Given the description of an element on the screen output the (x, y) to click on. 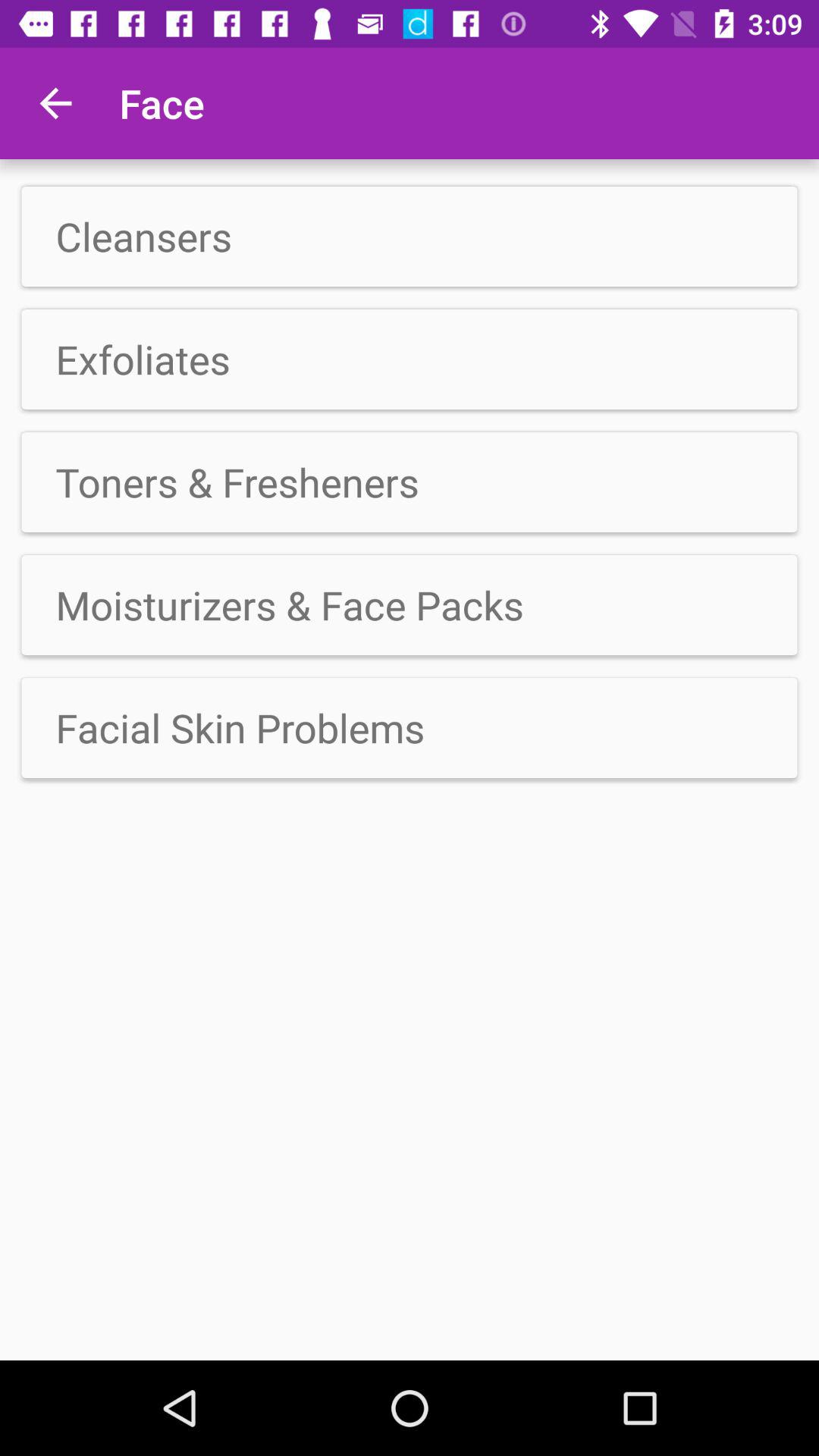
select the icon above the facial skin problems icon (409, 604)
